Given the description of an element on the screen output the (x, y) to click on. 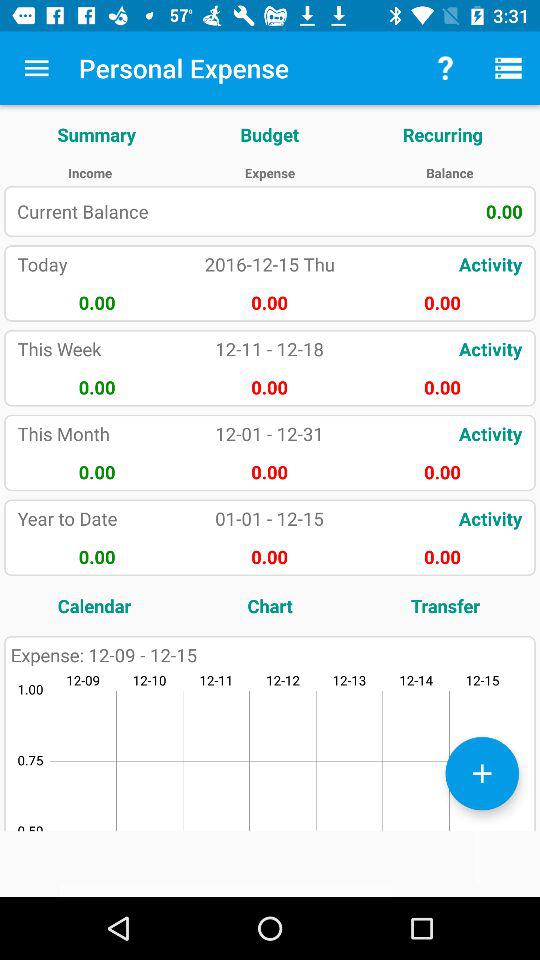
choose item next to personal expense icon (444, 67)
